Given the description of an element on the screen output the (x, y) to click on. 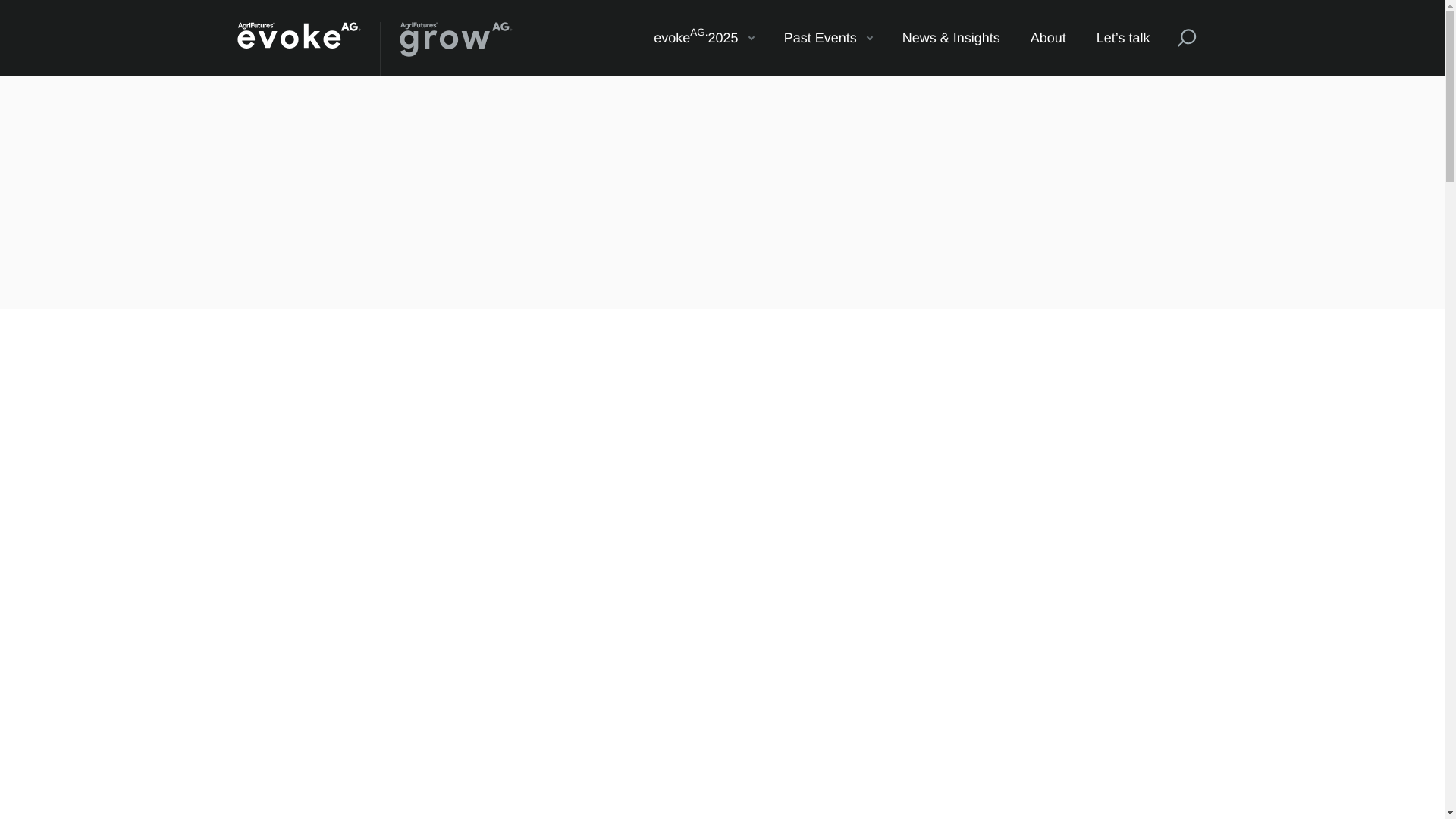
Past Events (827, 38)
Go to evokeAG. homepage (297, 49)
Skip to Content (703, 38)
